Given the description of an element on the screen output the (x, y) to click on. 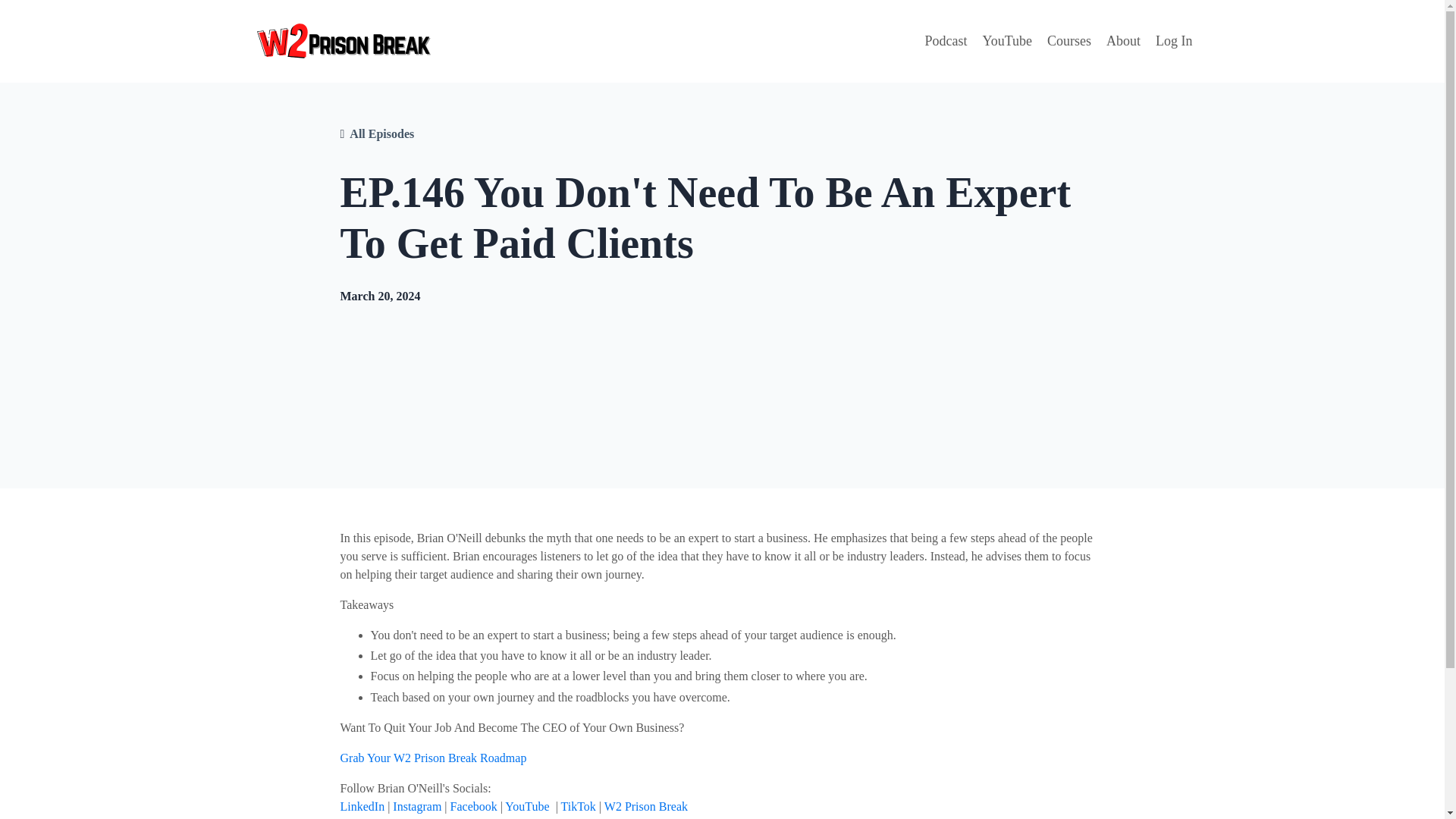
LinkedIn (361, 806)
March 20, 2024 at 1:00pm CST (379, 295)
Facebook (473, 806)
W2 Prison Break  (647, 806)
Courses (1068, 41)
Log In (1174, 40)
YouTube (526, 806)
YouTube (1006, 41)
Podcast (945, 41)
TikTok (577, 806)
Instagram (417, 806)
About (1123, 41)
All Episodes (381, 134)
Grab Your W2 Prison Break Roadmap (432, 757)
